Given the description of an element on the screen output the (x, y) to click on. 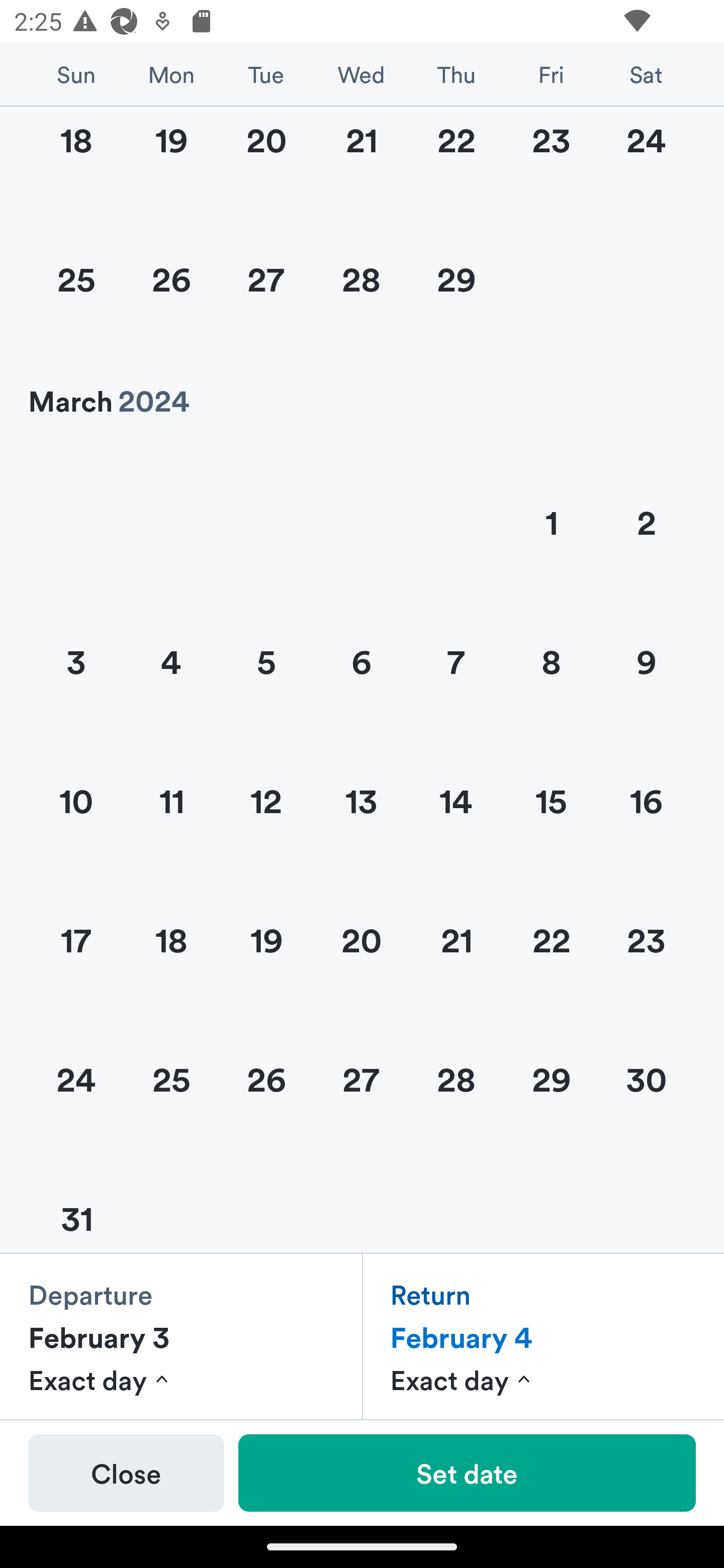
Close (126, 1472)
Set date (466, 1472)
